Given the description of an element on the screen output the (x, y) to click on. 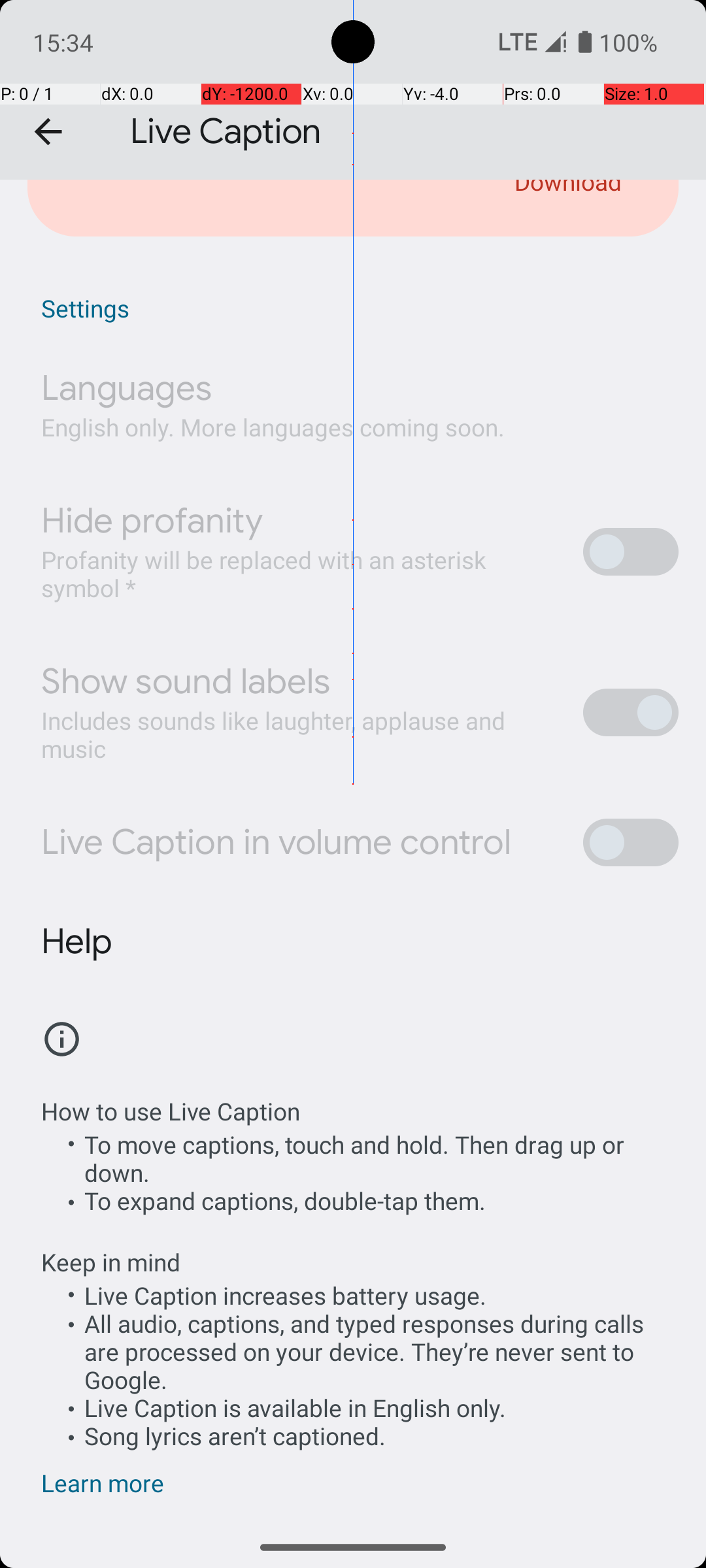
How to use Live Caption Element type: android.widget.TextView (170, 1110)
To move captions, touch and hold. Then drag up or down.
To expand captions, double-tap them. Element type: android.widget.TextView (359, 1172)

Keep in mind Element type: android.widget.TextView (110, 1247)
Live Caption increases battery usage.
All audio, captions, and typed responses during calls are processed on your device. They’re never sent to Google.
Live Caption is available in English only.
Song lyrics aren’t captioned. Element type: android.widget.TextView (359, 1365)
Languages Element type: android.widget.TextView (126, 387)
English only. More languages coming soon. Element type: android.widget.TextView (272, 426)
Hide profanity Element type: android.widget.TextView (151, 520)
Profanity will be replaced with an asterisk symbol * Element type: android.widget.TextView (298, 573)
Show sound labels Element type: android.widget.TextView (185, 681)
Includes sounds like laughter, applause and music Element type: android.widget.TextView (298, 734)
Live Caption in volume control Element type: android.widget.TextView (276, 841)
